Given the description of an element on the screen output the (x, y) to click on. 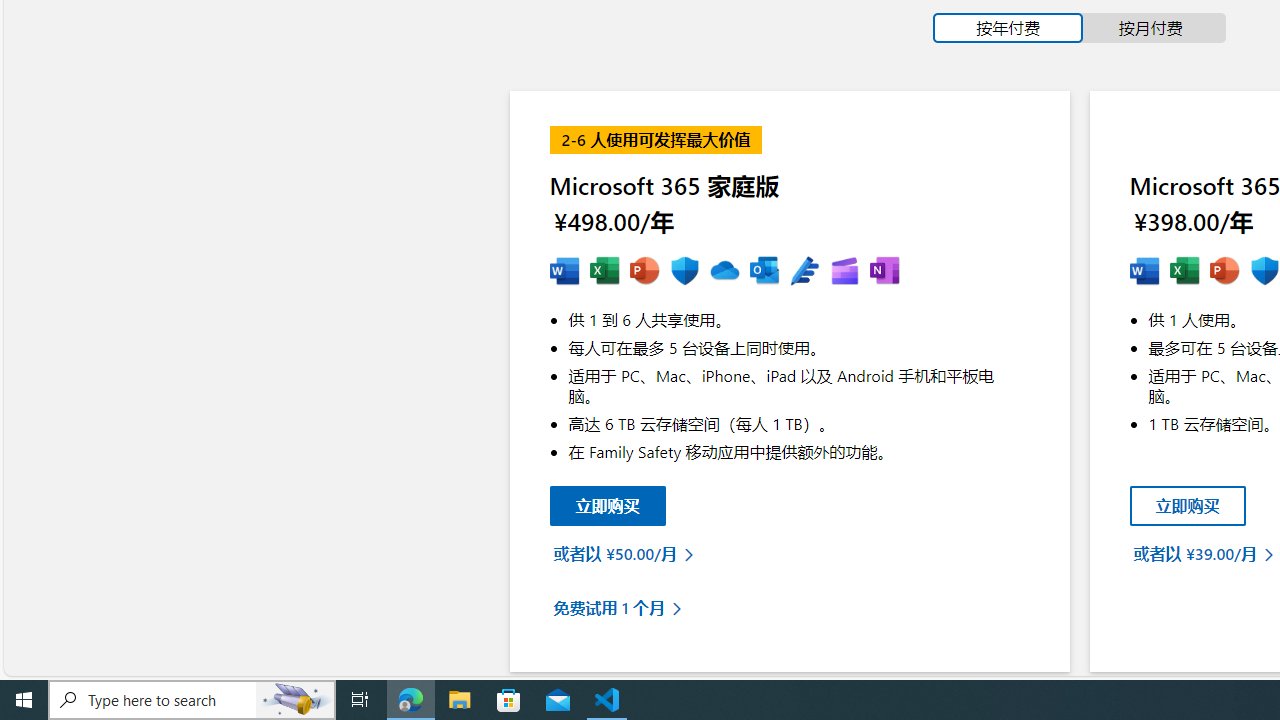
MS Excel (1184, 271)
MS Defender  (1264, 271)
MS Word (1143, 271)
